Given the description of an element on the screen output the (x, y) to click on. 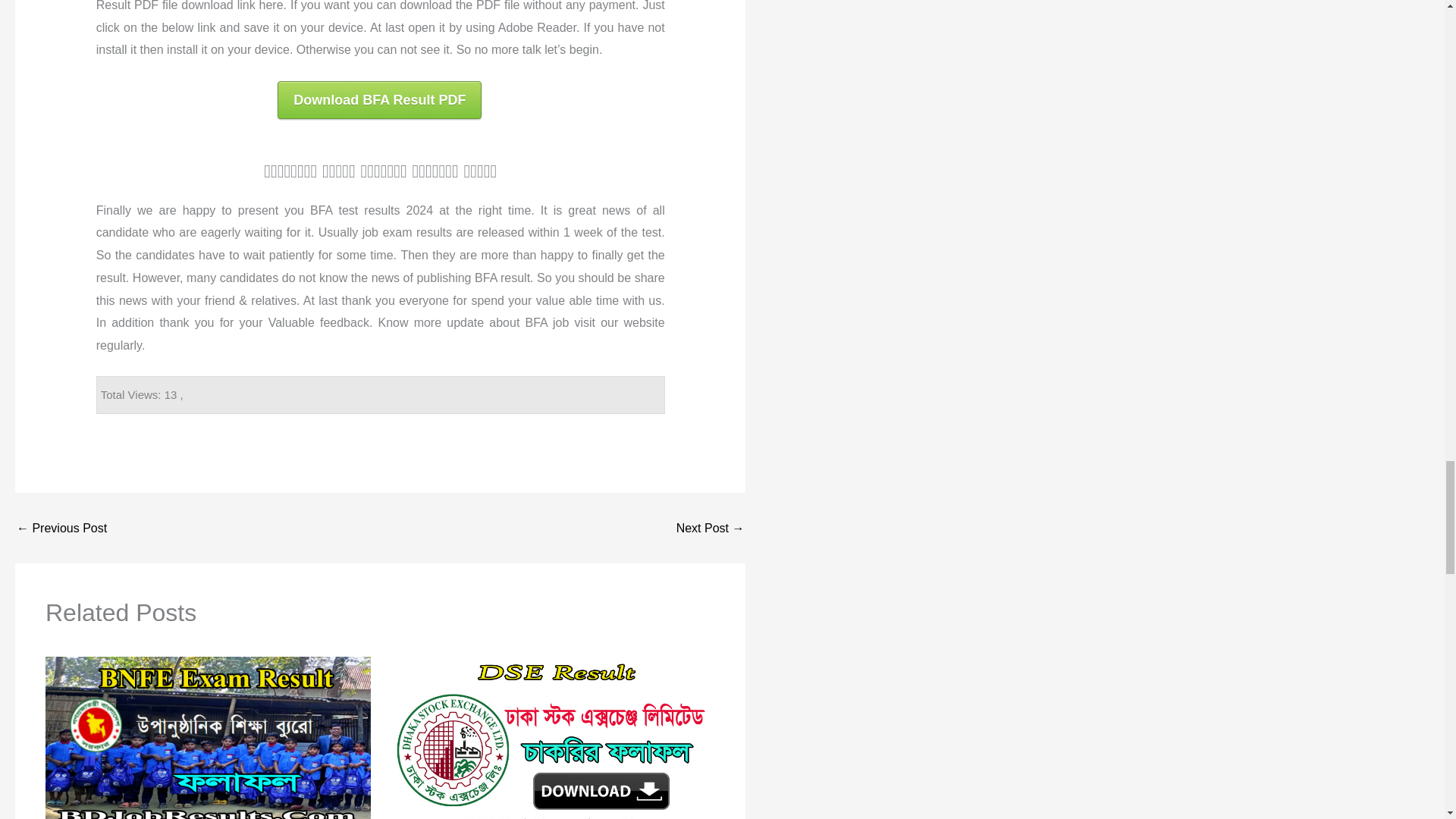
Download BFA Result PDF (379, 99)
SSC Calculator List 2024 All Board (710, 527)
NTP Result 2024 - National TB Control Program Exam Result (61, 527)
